Given the description of an element on the screen output the (x, y) to click on. 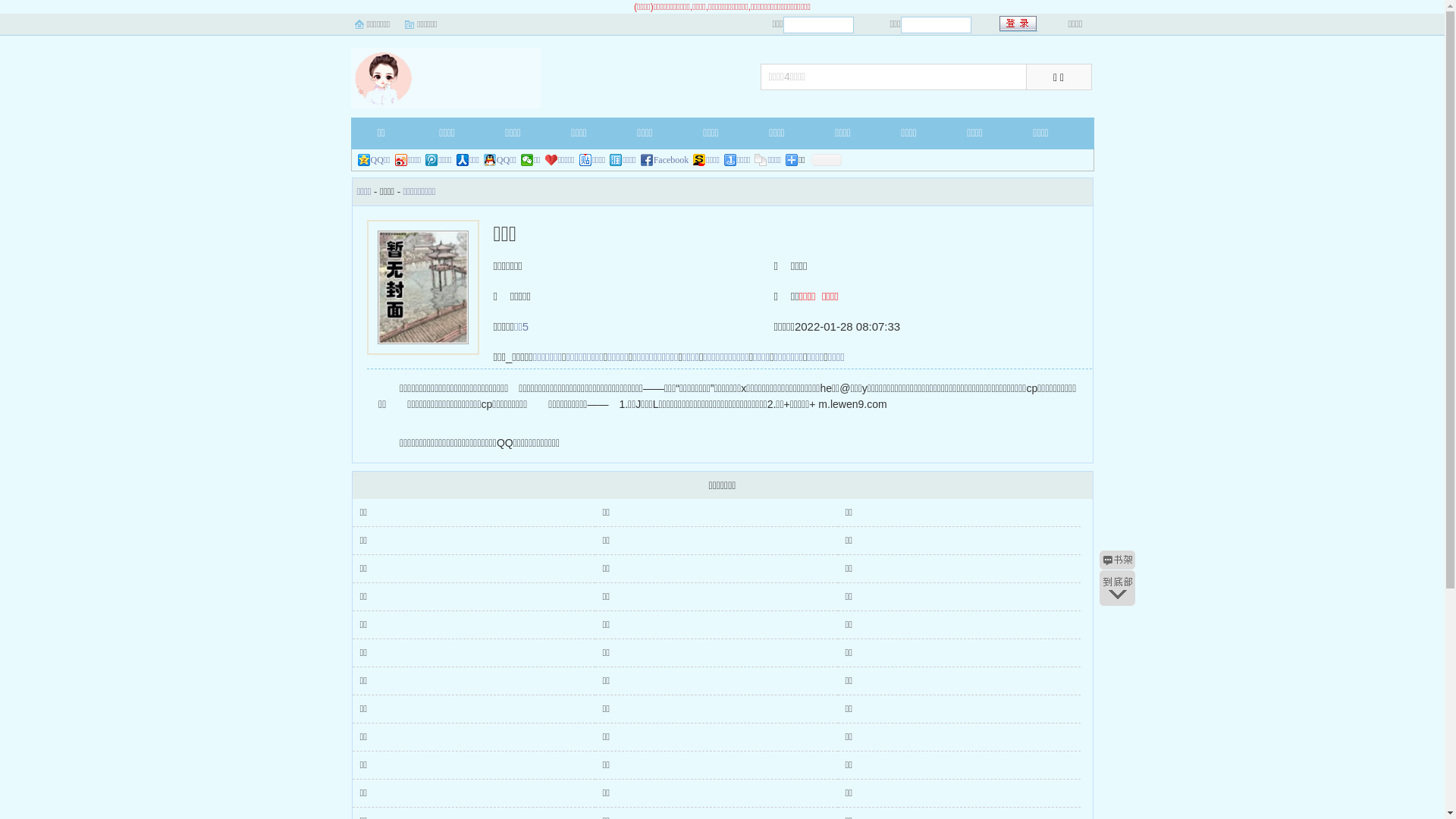
Facebook Element type: text (664, 159)
